Given the description of an element on the screen output the (x, y) to click on. 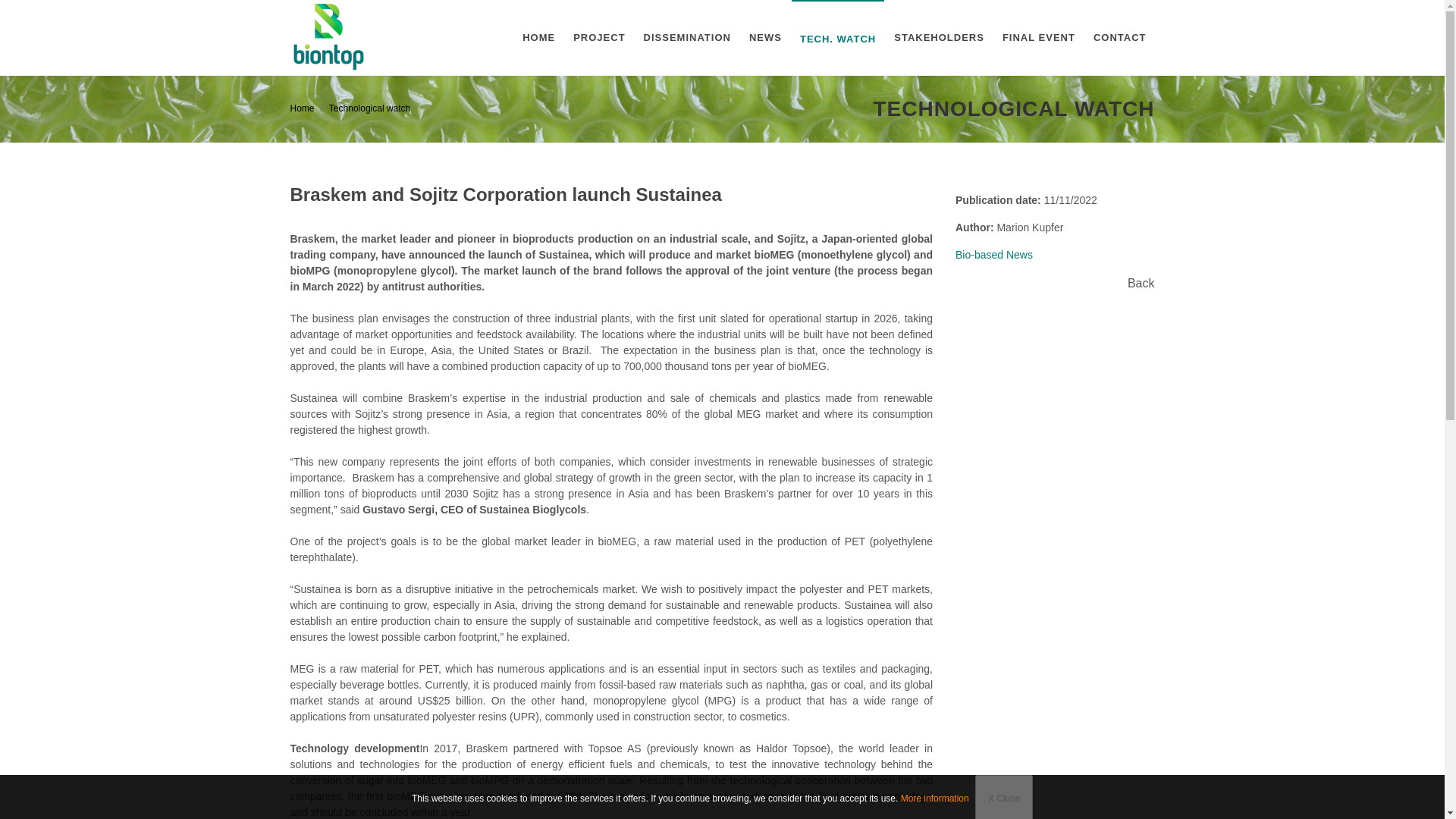
Back (1174, 282)
PROJECT (598, 38)
More information (935, 798)
Technological watch (369, 108)
CONTACT (1119, 38)
Home (301, 108)
TECH. WATCH (837, 38)
FINAL EVENT (1038, 38)
X Close (1003, 796)
Bio-based News (1034, 254)
DISSEMINATION (686, 38)
STAKEHOLDERS (938, 38)
